Given the description of an element on the screen output the (x, y) to click on. 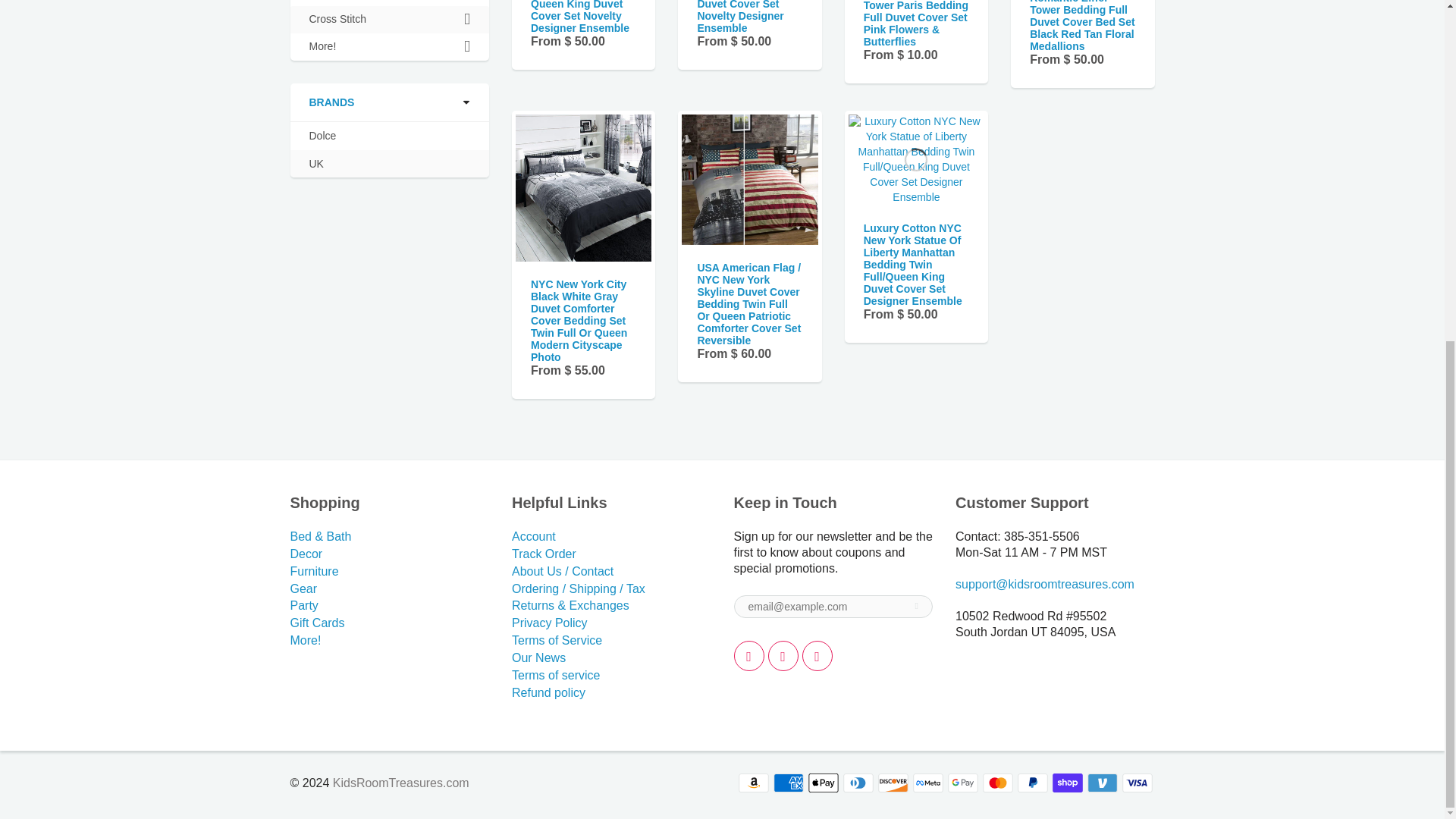
Pinterest (817, 655)
Apple Pay (823, 782)
American Express (788, 782)
Meta Pay (927, 782)
Google Pay (962, 782)
Facebook (782, 655)
Venmo (1102, 782)
Amazon (753, 782)
Mastercard (997, 782)
PayPal (1032, 782)
